Given the description of an element on the screen output the (x, y) to click on. 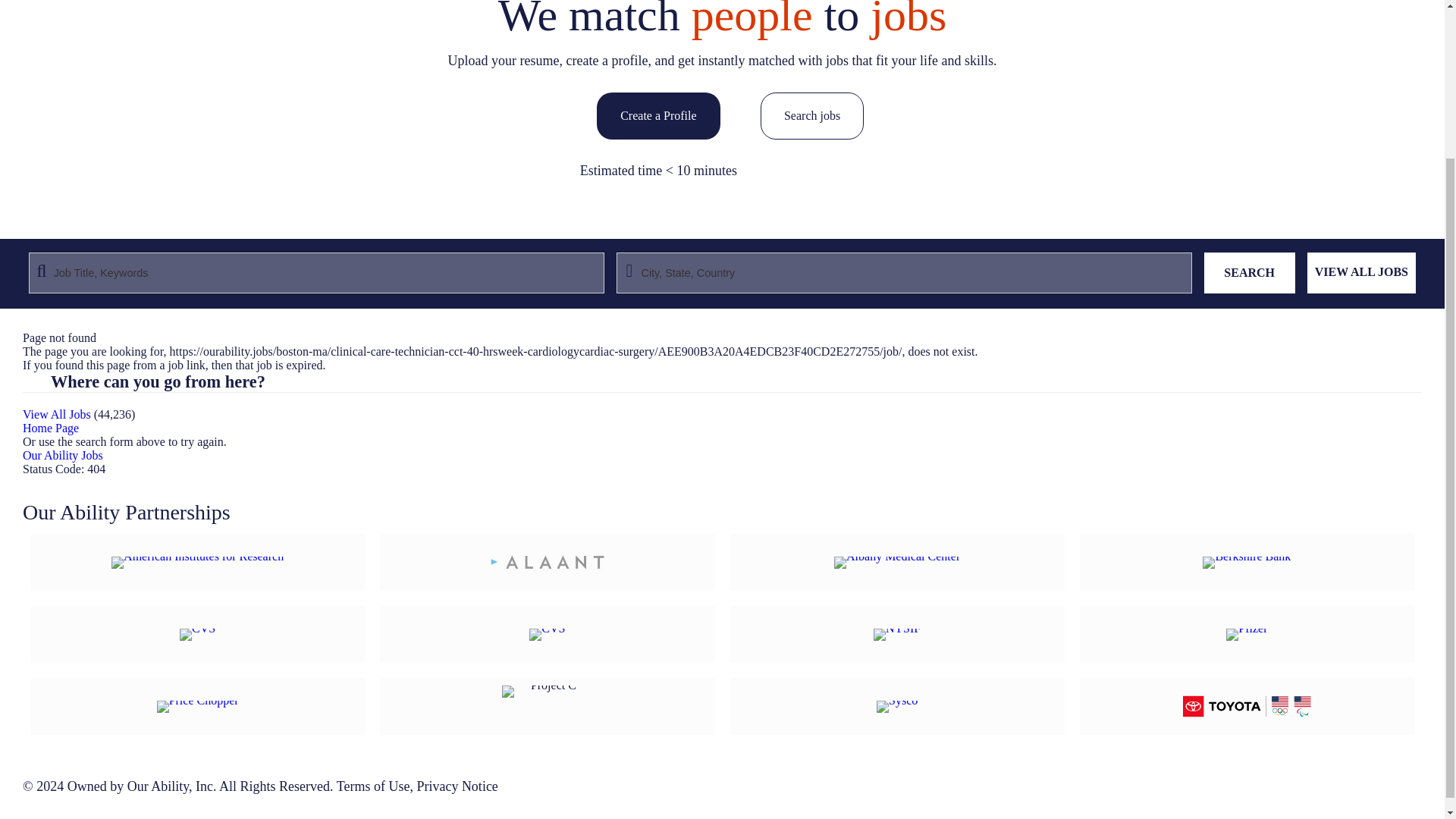
Home Page (50, 427)
Create a Profile (657, 115)
Privacy Notice (456, 785)
View All Jobs (56, 413)
Our Ability Jobs (63, 454)
VIEW ALL JOBS (1361, 272)
SEARCH (1249, 272)
Terms of Use (373, 785)
Search jobs (811, 135)
